Given the description of an element on the screen output the (x, y) to click on. 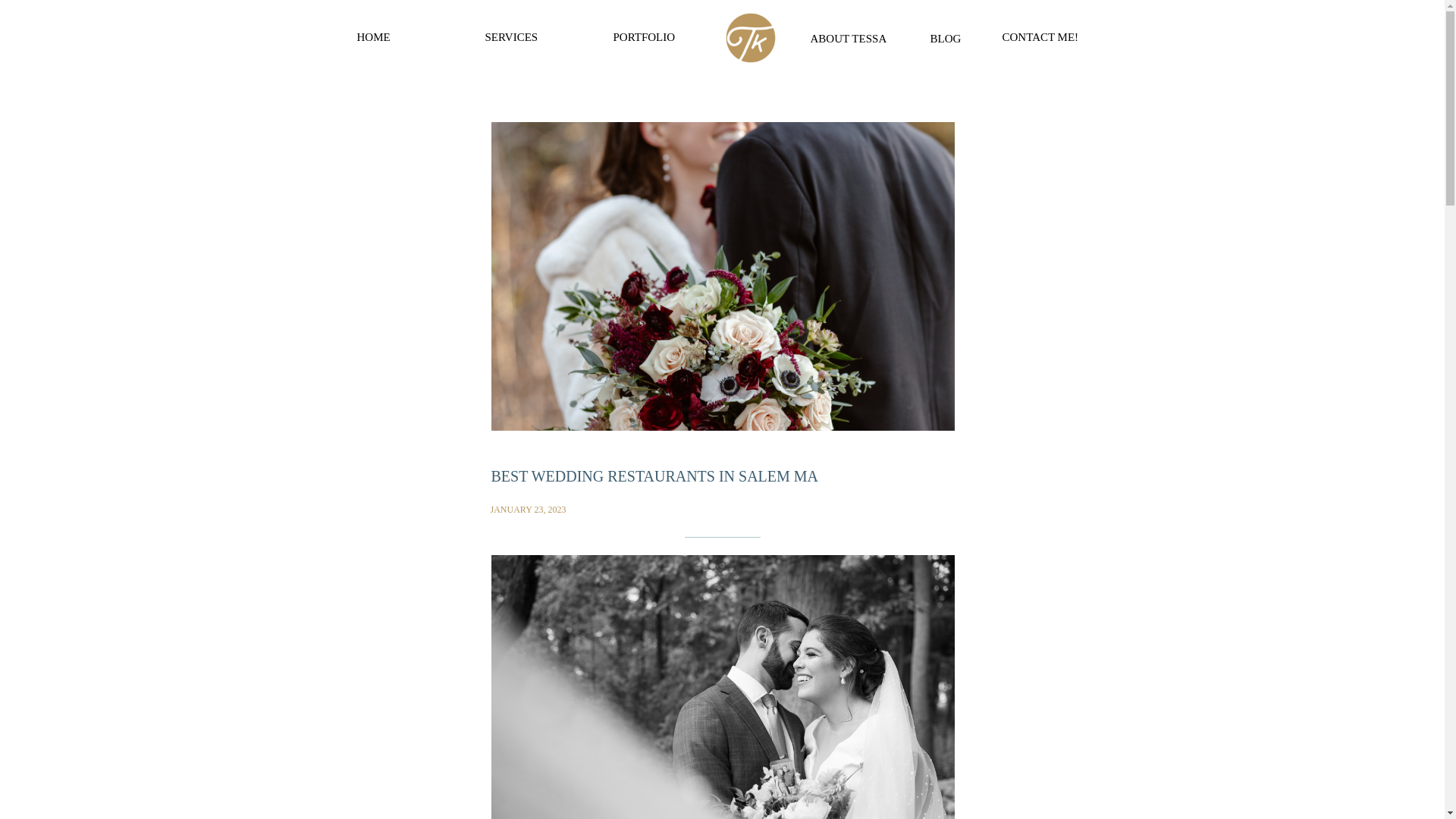
SERVICES (531, 37)
PORTFOLIO (651, 37)
ABOUT TESSA (852, 37)
HOME (403, 37)
BLOG (949, 37)
CONTACT ME! (1046, 36)
